Given the description of an element on the screen output the (x, y) to click on. 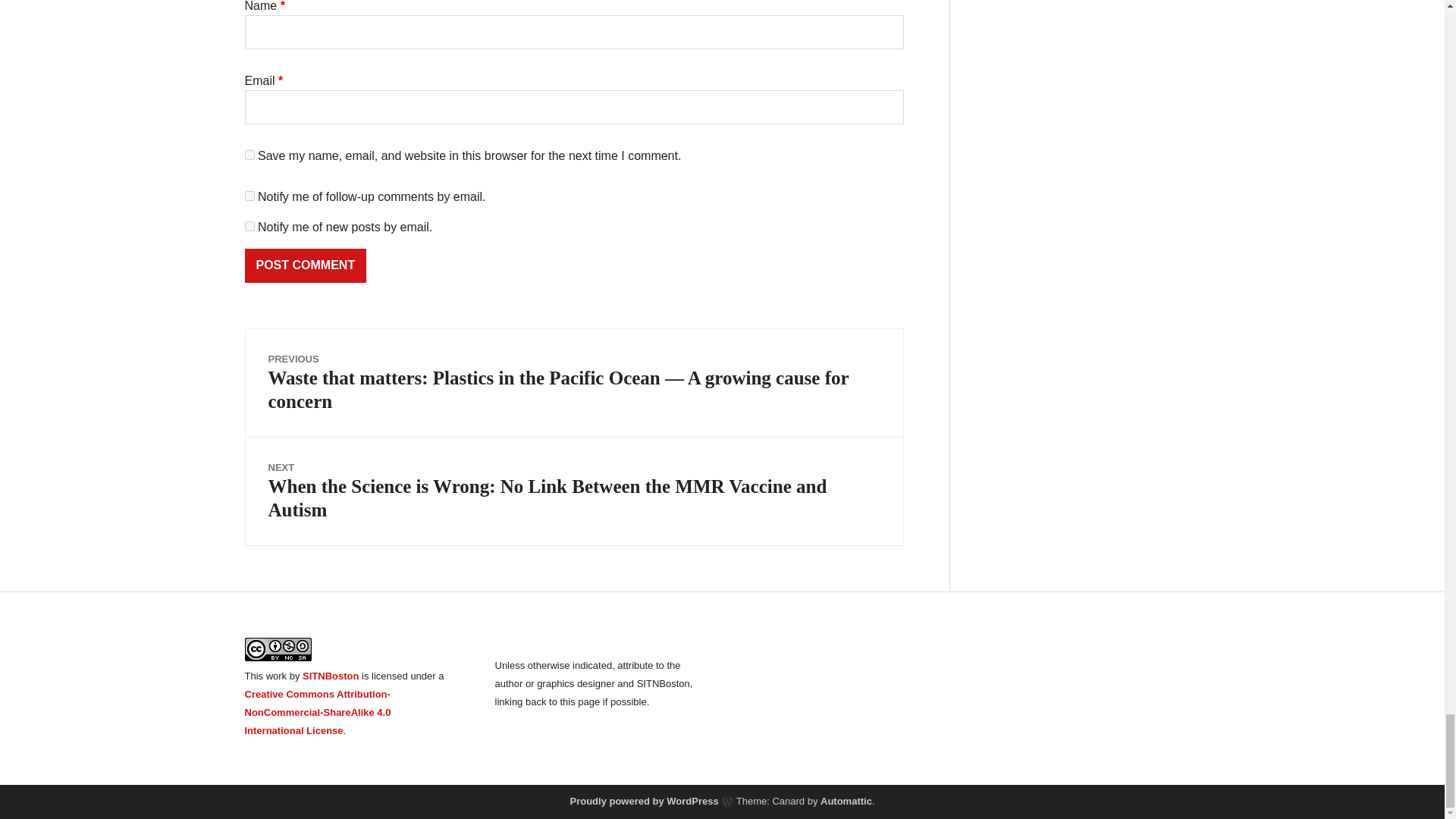
subscribe (248, 195)
yes (248, 154)
subscribe (248, 225)
Post Comment (305, 265)
